Given the description of an element on the screen output the (x, y) to click on. 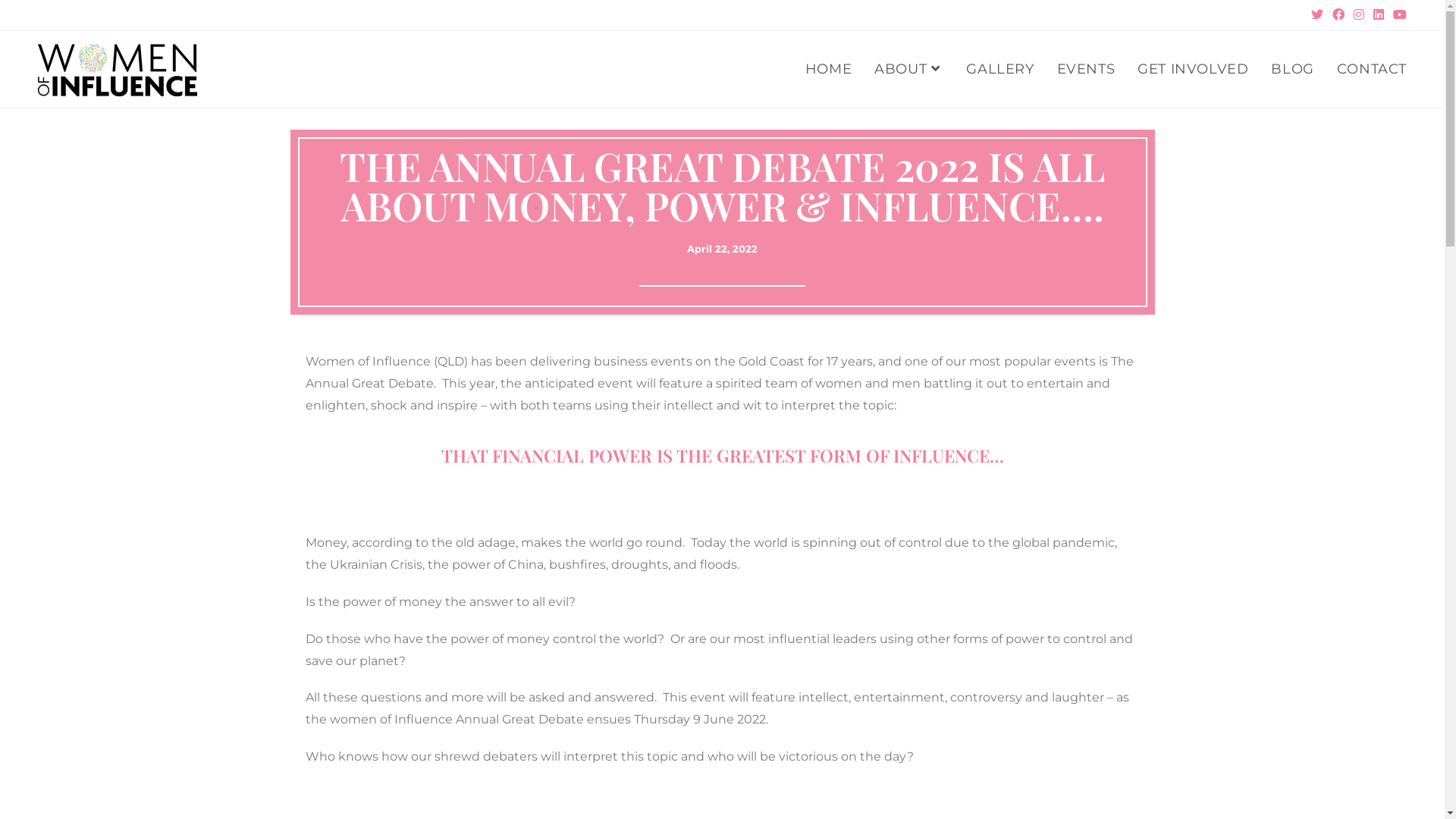
ABOUT Element type: text (908, 69)
HOME Element type: text (827, 69)
BLOG Element type: text (1291, 69)
April 22, 2022 Element type: text (722, 248)
GALLERY Element type: text (999, 69)
CONTACT Element type: text (1371, 69)
GET INVOLVED Element type: text (1192, 69)
EVENTS Element type: text (1085, 69)
